Given the description of an element on the screen output the (x, y) to click on. 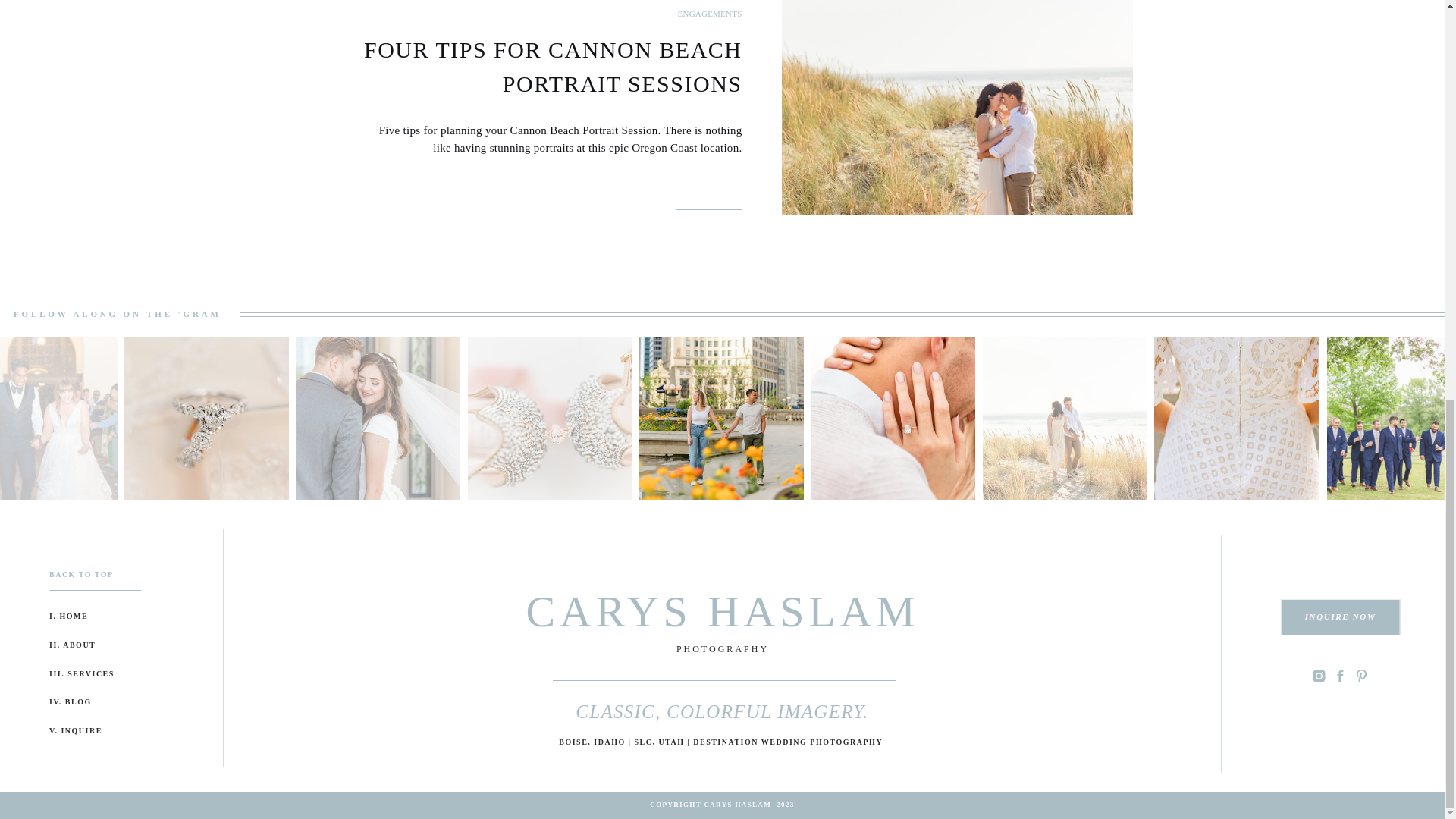
Four Tips for Cannon Beach Portrait Sessions (956, 107)
